Given the description of an element on the screen output the (x, y) to click on. 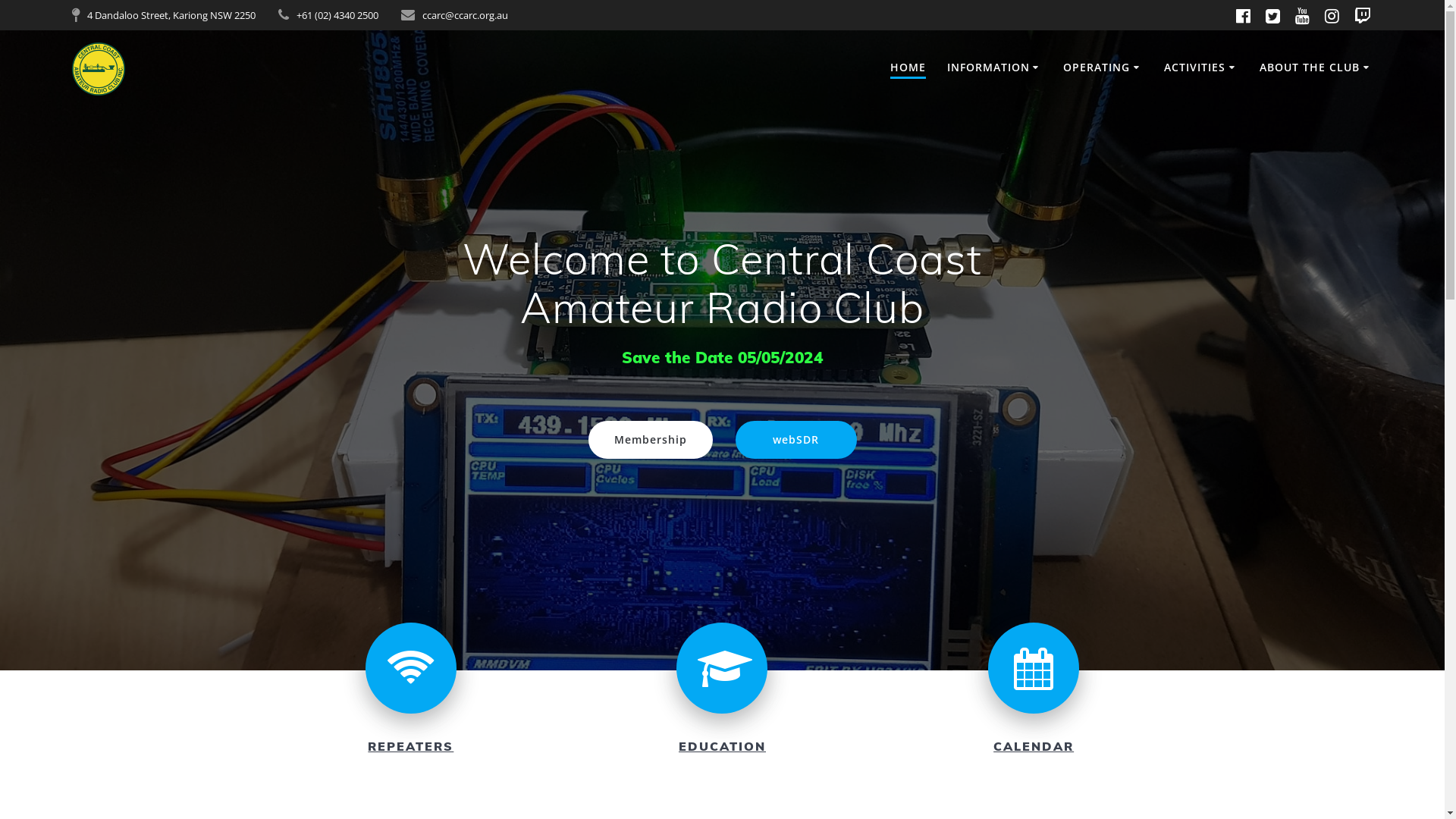
EDUCATION Element type: text (721, 746)
OPERATING Element type: text (1103, 68)
INFORMATION Element type: text (995, 68)
webSDR Element type: text (795, 439)
ABOUT THE CLUB Element type: text (1316, 68)
Membership Element type: text (650, 439)
REPEATERS Element type: text (410, 746)
ACTIVITIES Element type: text (1201, 68)
CALENDAR Element type: text (1033, 746)
HOME Element type: text (907, 68)
